Given the description of an element on the screen output the (x, y) to click on. 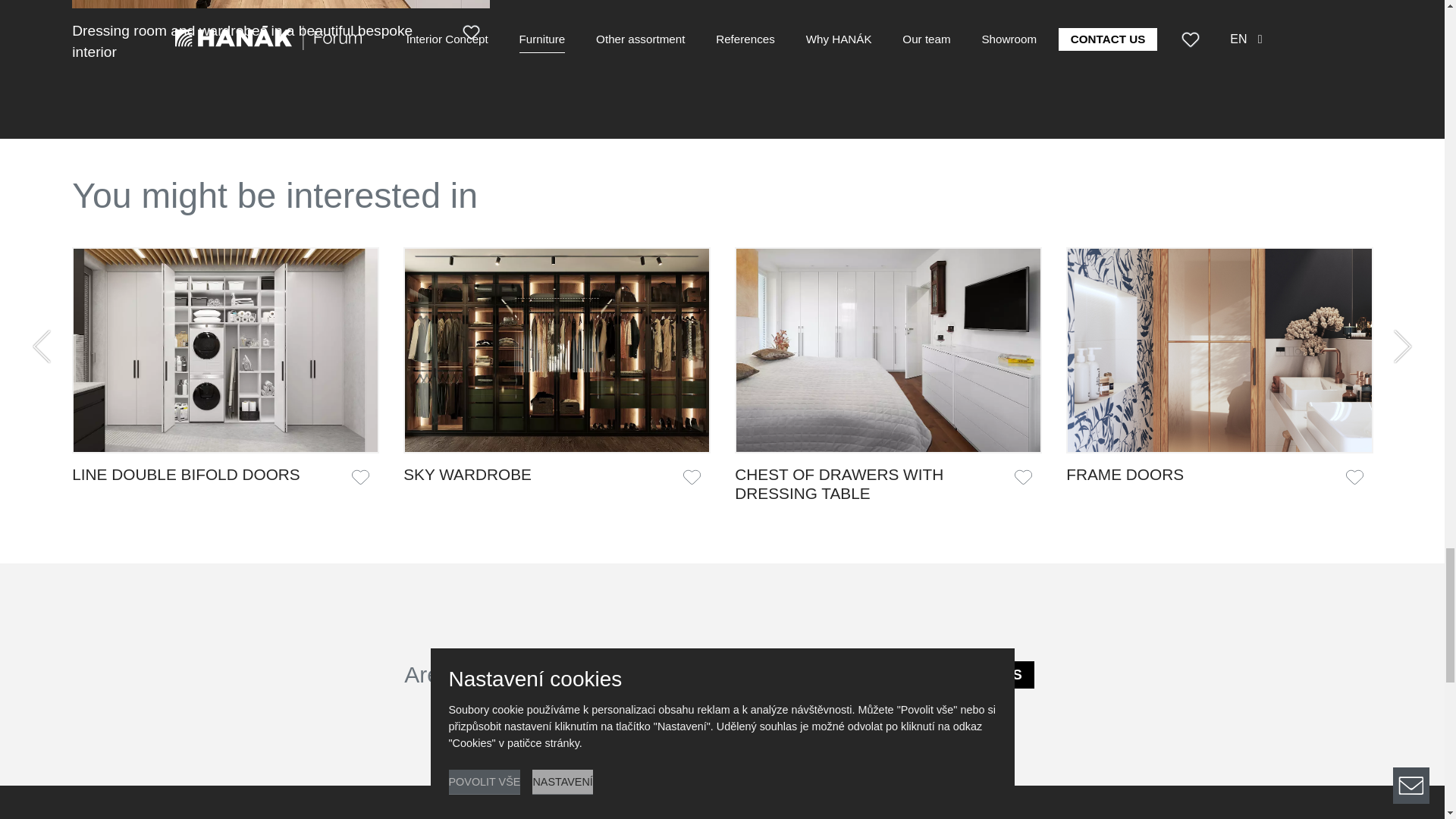
Dressing room and wardrobes in a beautiful bespoke interior (243, 41)
